Given the description of an element on the screen output the (x, y) to click on. 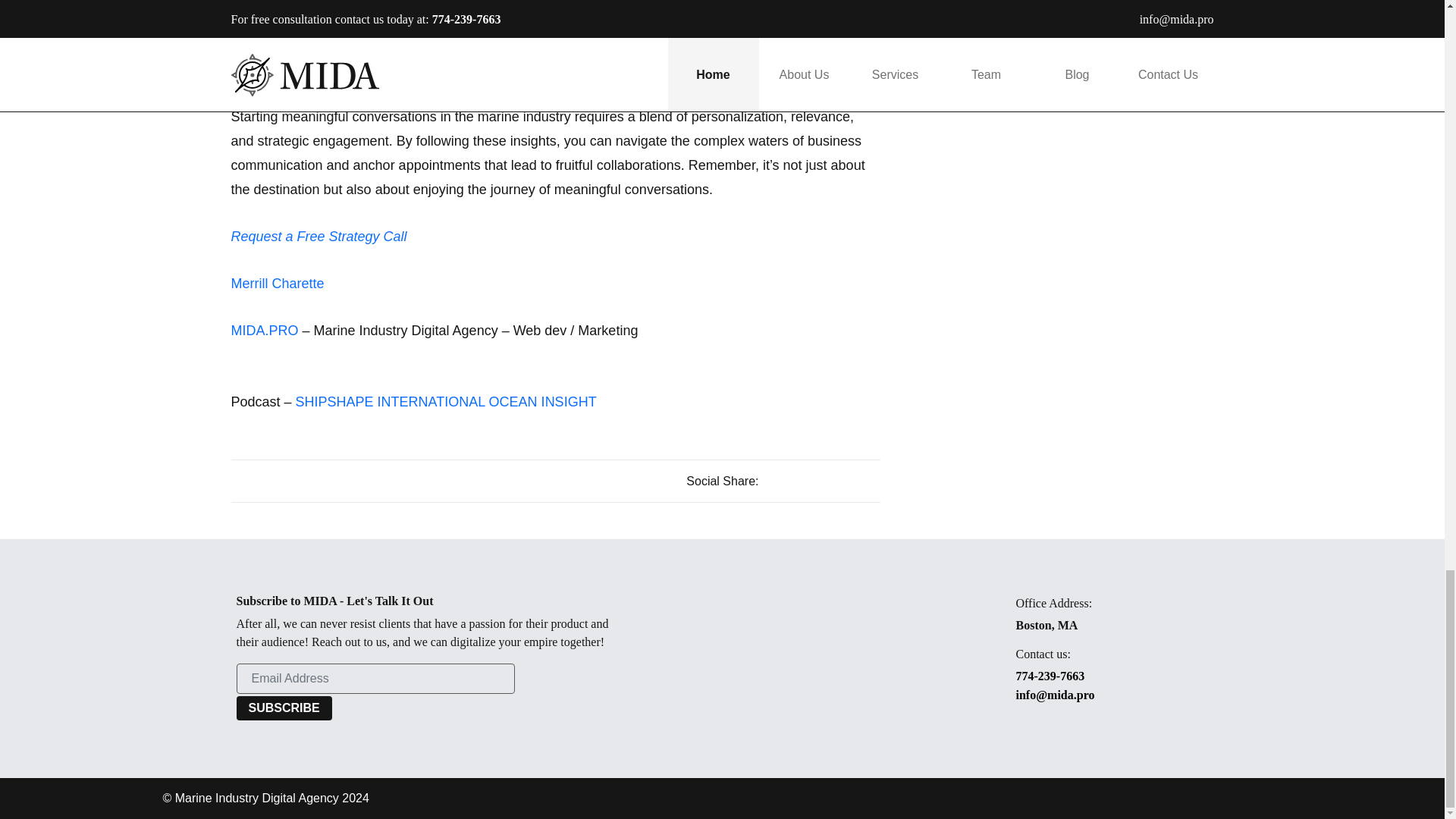
Request a Free Strategy Call (318, 236)
SUBSCRIBE (283, 708)
SUBSCRIBE (283, 708)
Twitter (849, 479)
MIDA.PRO (264, 330)
Merrill Charette  (278, 283)
SHIPSHAPE INTERNATIONAL OCEAN INSIGHT (445, 401)
Facebook (828, 479)
774-239-7663 (1149, 675)
LinkedIn (870, 479)
